Given the description of an element on the screen output the (x, y) to click on. 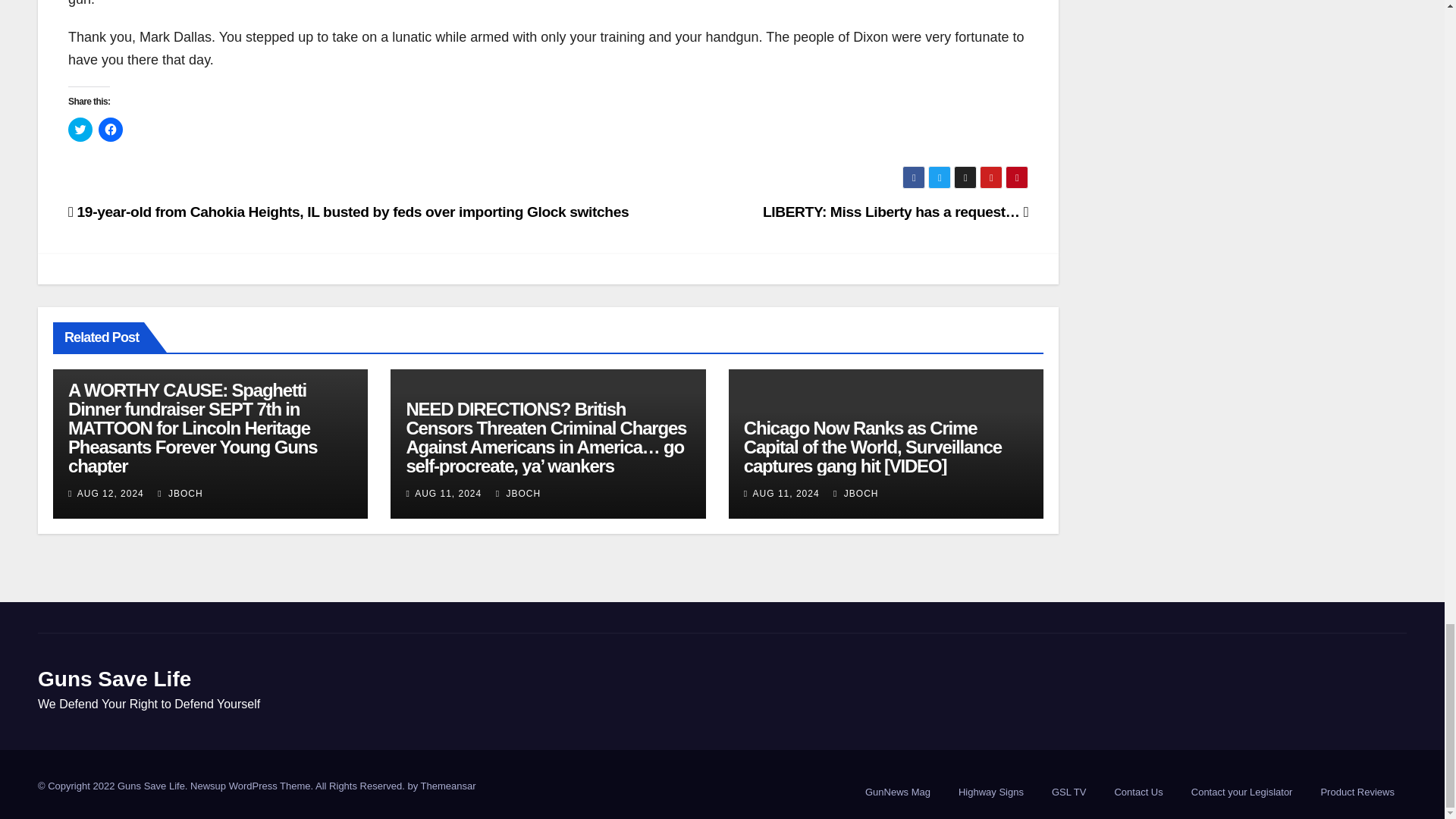
Click to share on Facebook (110, 129)
AUG 11, 2024 (447, 493)
GunNews Mag (897, 791)
GSL TV (1069, 791)
AUG 12, 2024 (110, 493)
Highway Signs (990, 791)
JBOCH (518, 493)
Click to share on Twitter (80, 129)
